Given the description of an element on the screen output the (x, y) to click on. 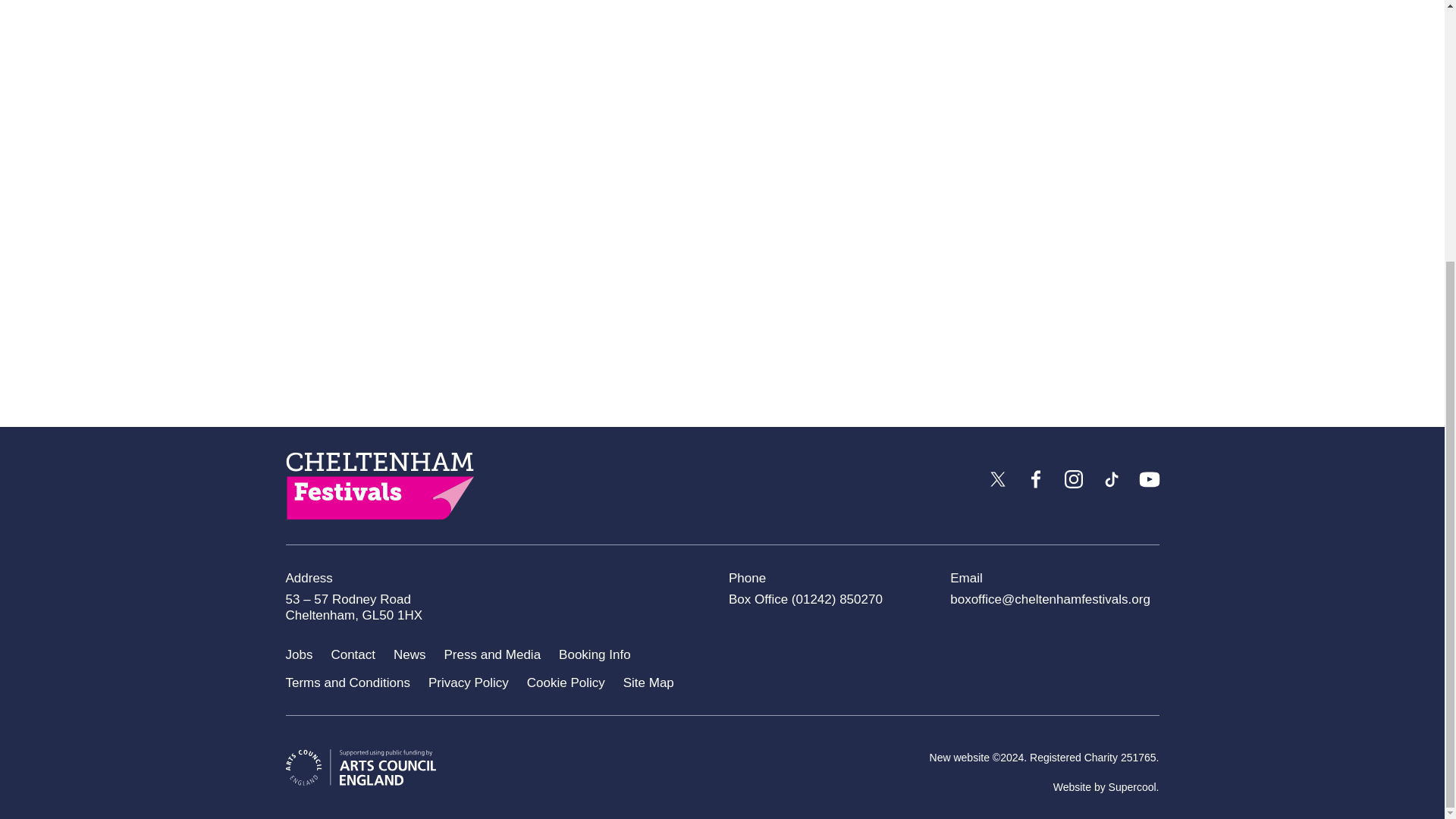
Contact (352, 654)
Facebook (1035, 478)
TikTok (1110, 478)
Press and Media (492, 654)
Booking Info (594, 654)
YouTube (1148, 478)
Instagram (1073, 478)
Jobs (299, 654)
News (409, 654)
Twitter (997, 478)
